Given the description of an element on the screen output the (x, y) to click on. 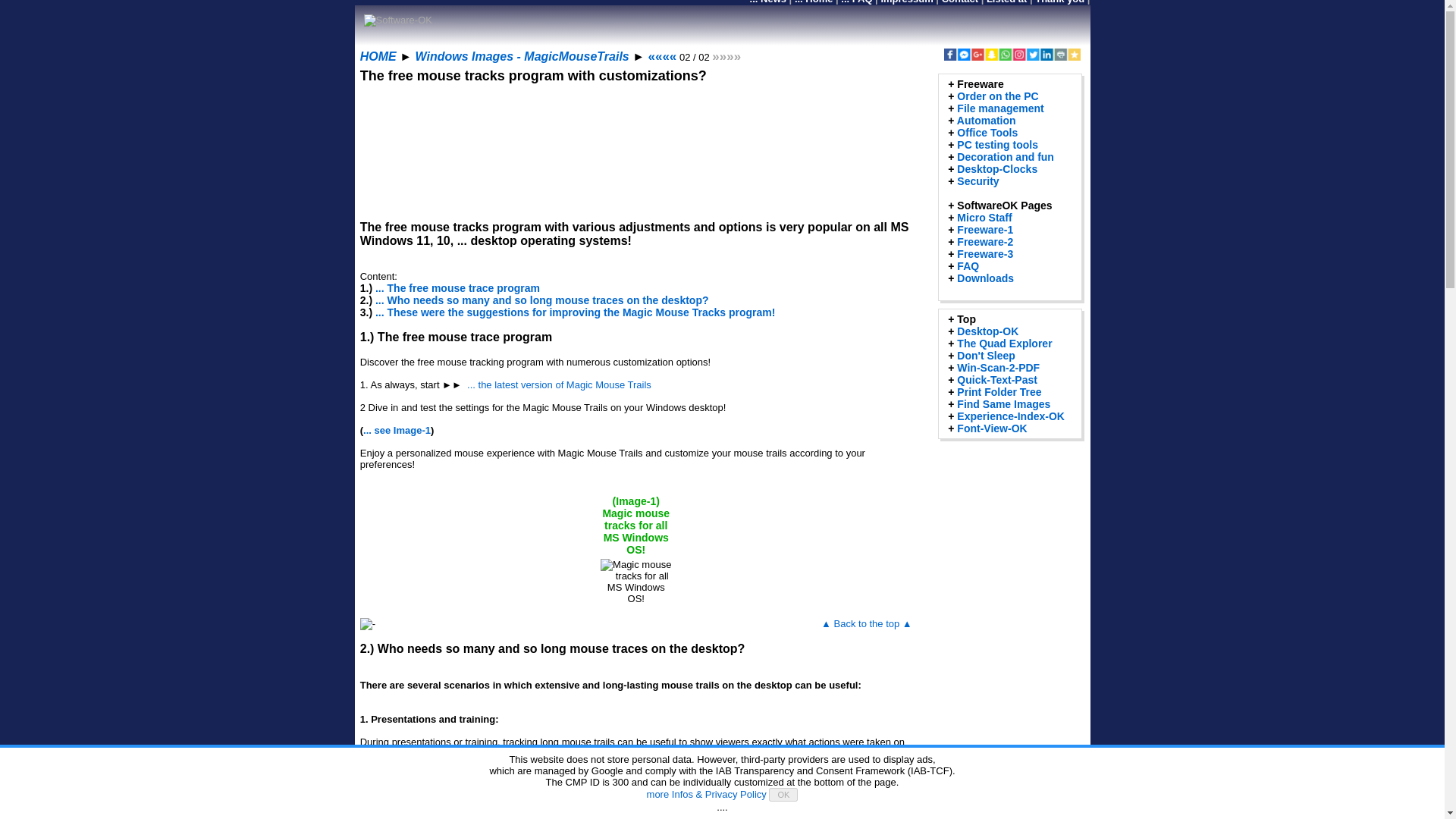
... the latest version of Magic Mouse Trails (558, 384)
... FAQ (856, 2)
... Home (813, 2)
Listed at (1006, 2)
HOME (377, 56)
... see Image-1 (396, 430)
... News (767, 2)
... The free mouse trace program (457, 287)
 OK  (782, 794)
Impressum (906, 2)
Contact (960, 2)
Windows Images - MagicMouseTrails (521, 56)
Thank you (1059, 2)
